Given the description of an element on the screen output the (x, y) to click on. 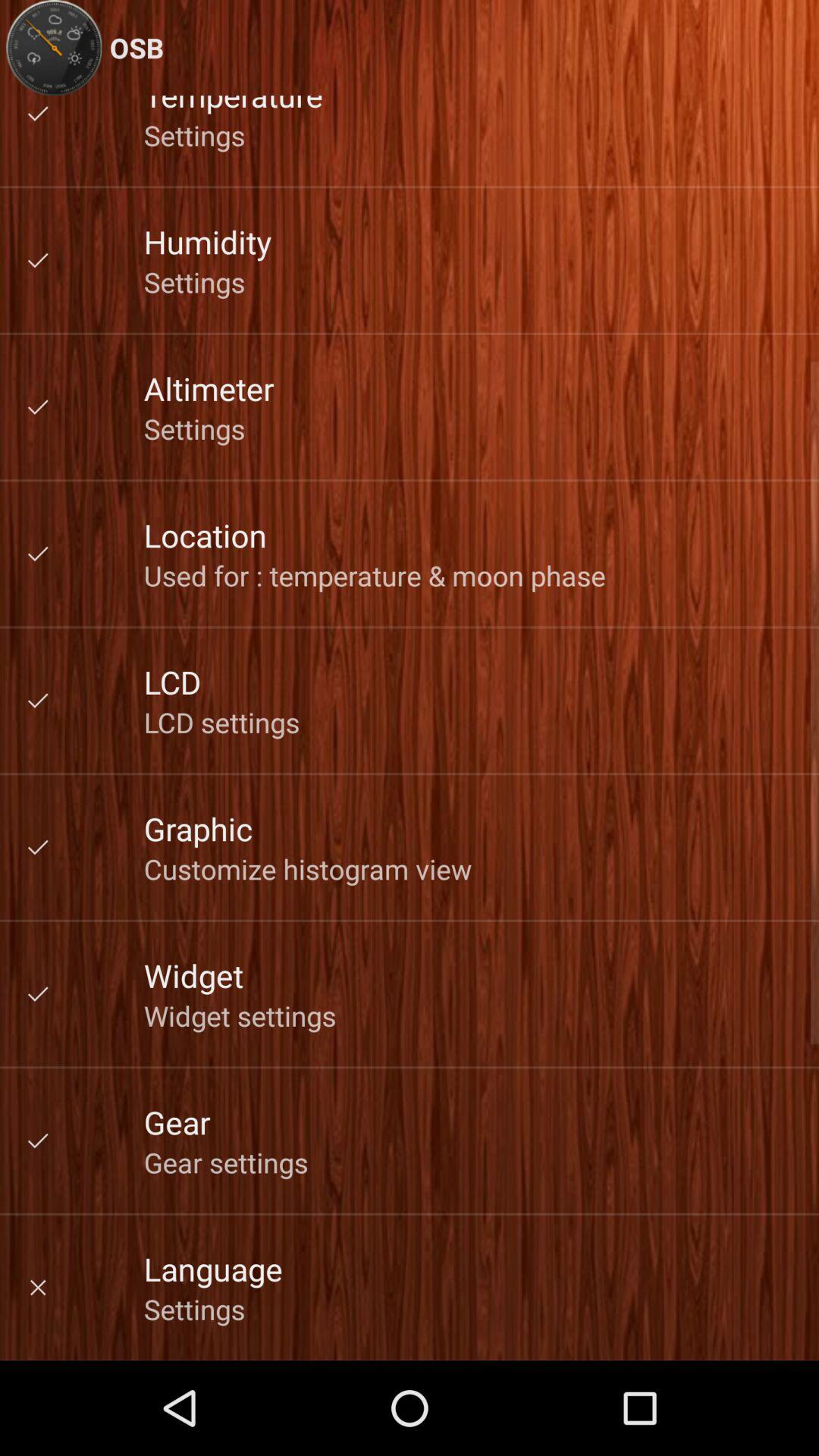
turn on app above settings icon (212, 1268)
